Given the description of an element on the screen output the (x, y) to click on. 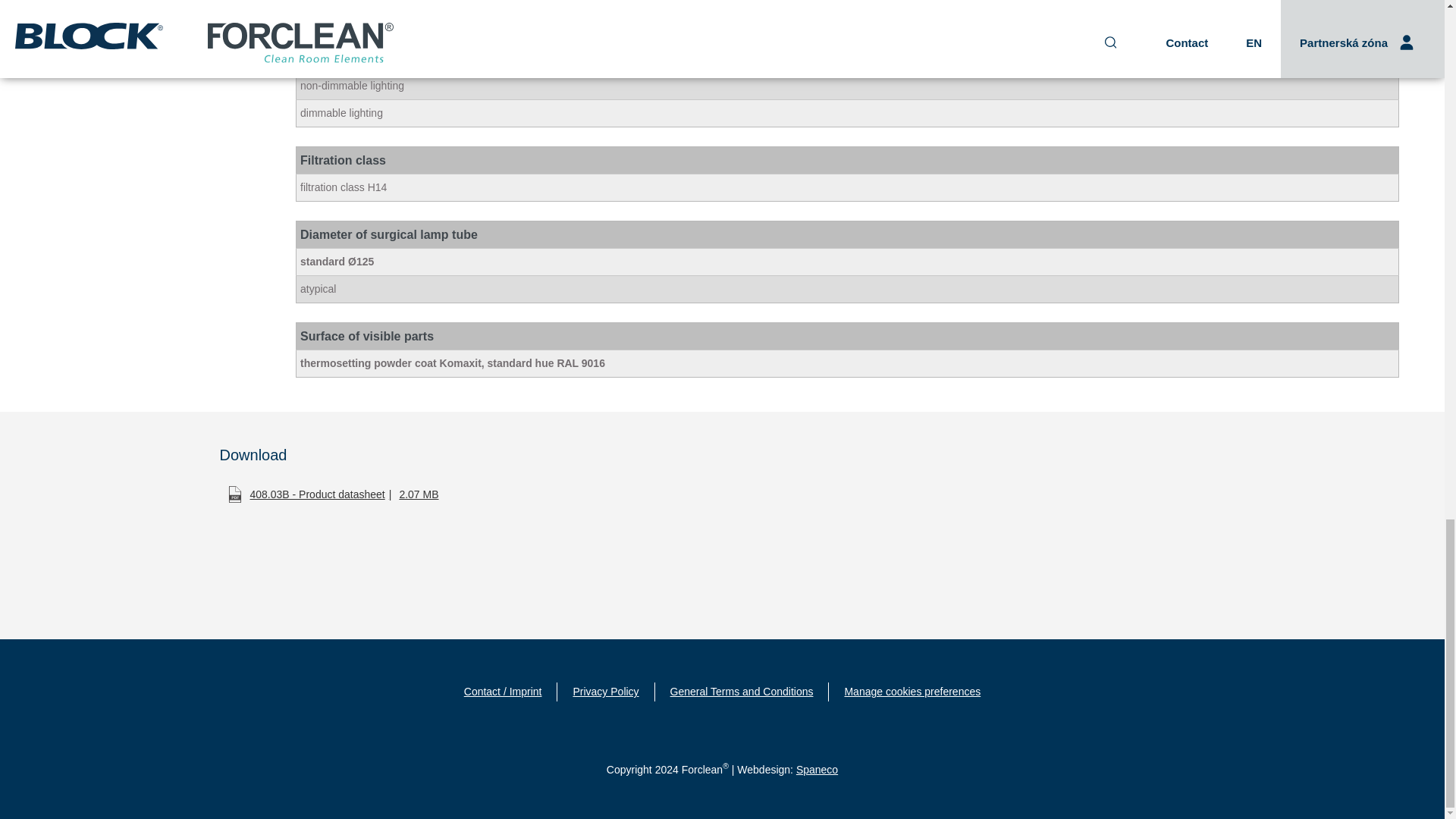
English (631, 243)
Slovensky (631, 195)
